Given the description of an element on the screen output the (x, y) to click on. 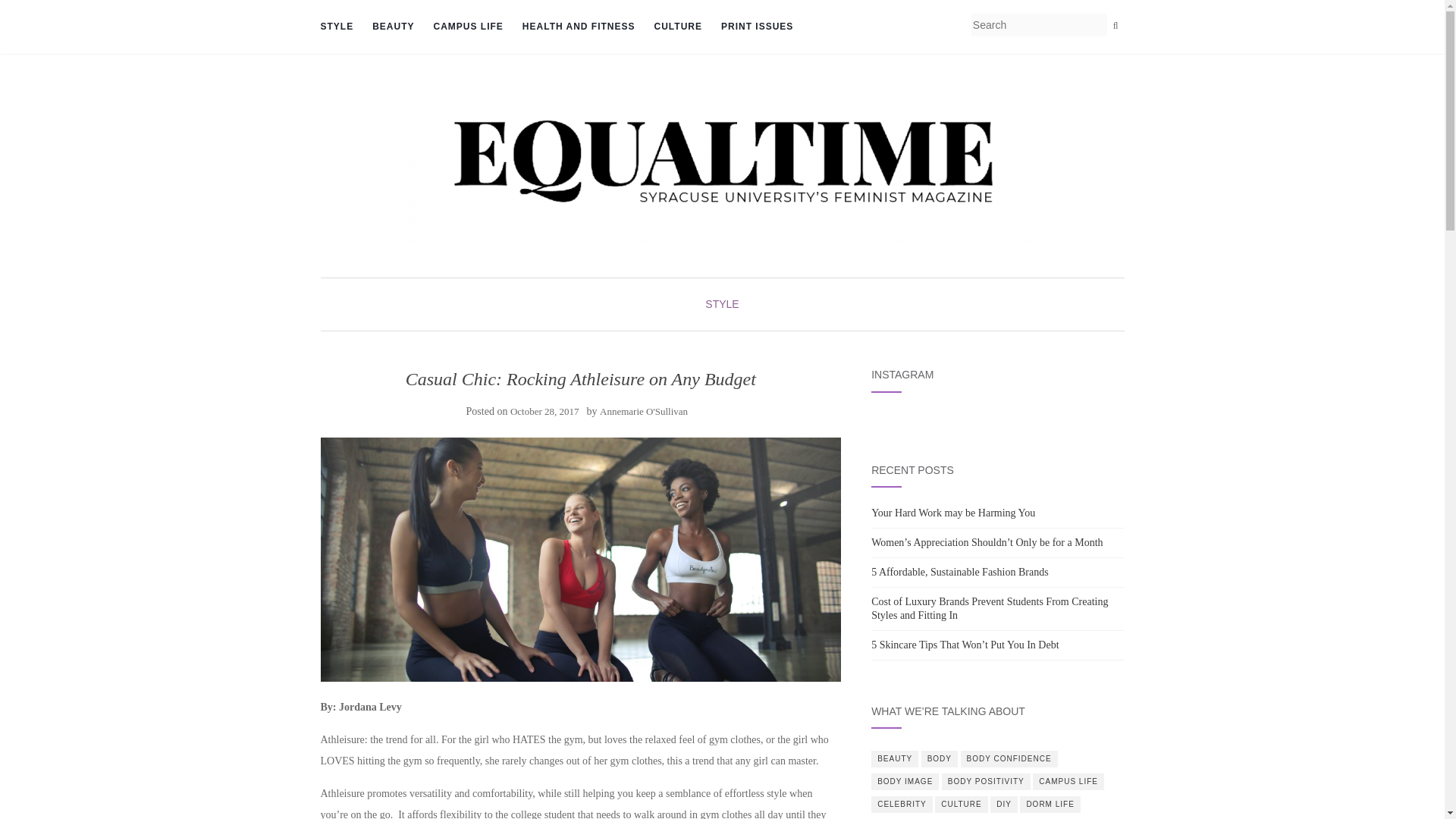
Your Hard Work may be Harming You (952, 512)
BODY IMAGE (904, 781)
CELEBRITY (901, 804)
October 28, 2017 (545, 410)
BODY CONFIDENCE (1009, 759)
DORM LIFE (1050, 804)
BEAUTY (894, 759)
5 Affordable, Sustainable Fashion Brands (959, 572)
Annemarie O'Sullivan (643, 410)
STYLE (721, 304)
